Given the description of an element on the screen output the (x, y) to click on. 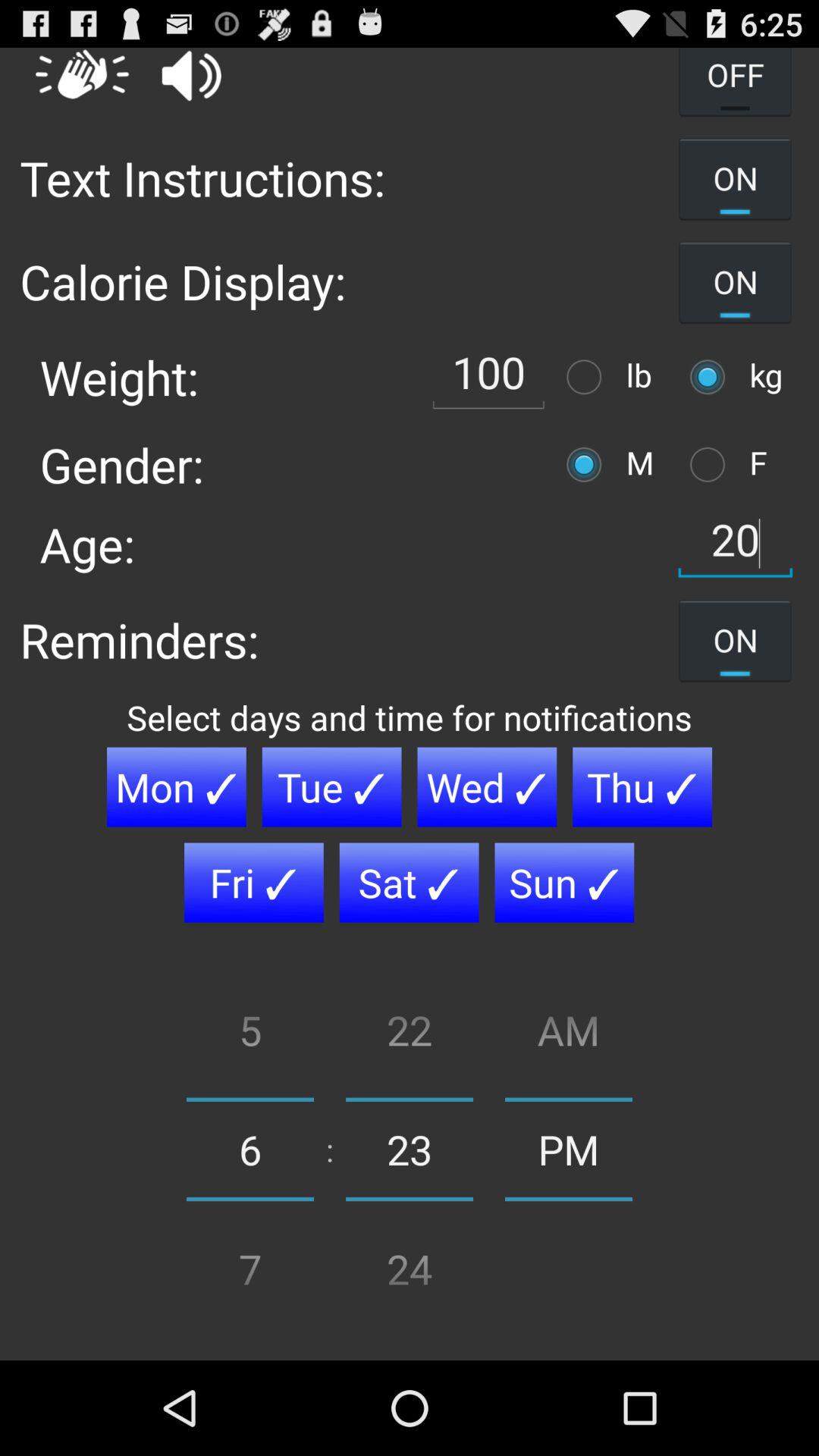
set weight measurement to pounds (587, 376)
